Given the description of an element on the screen output the (x, y) to click on. 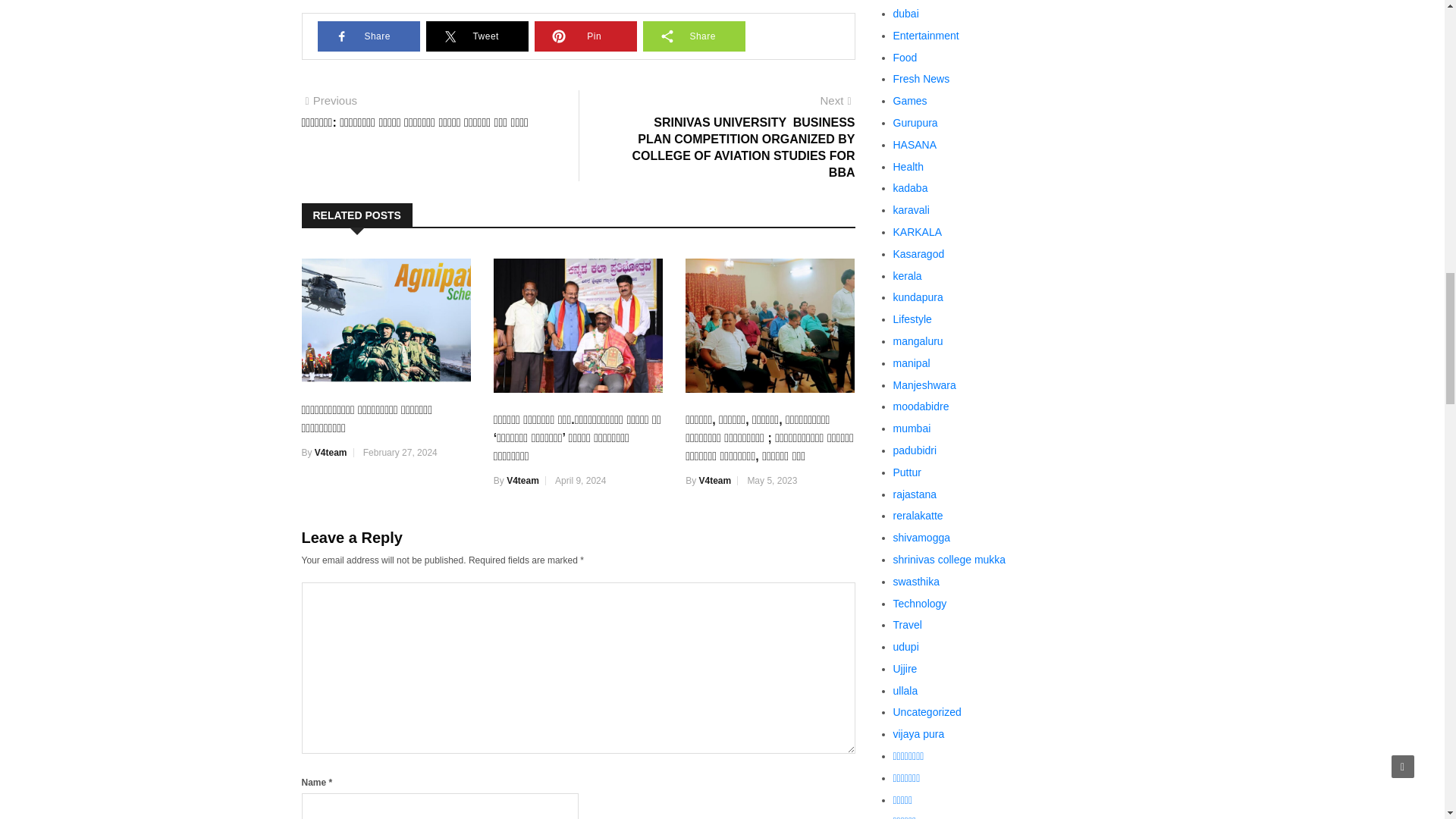
Posts by v4team (330, 452)
Posts by v4team (522, 480)
Posts by v4team (715, 480)
